Given the description of an element on the screen output the (x, y) to click on. 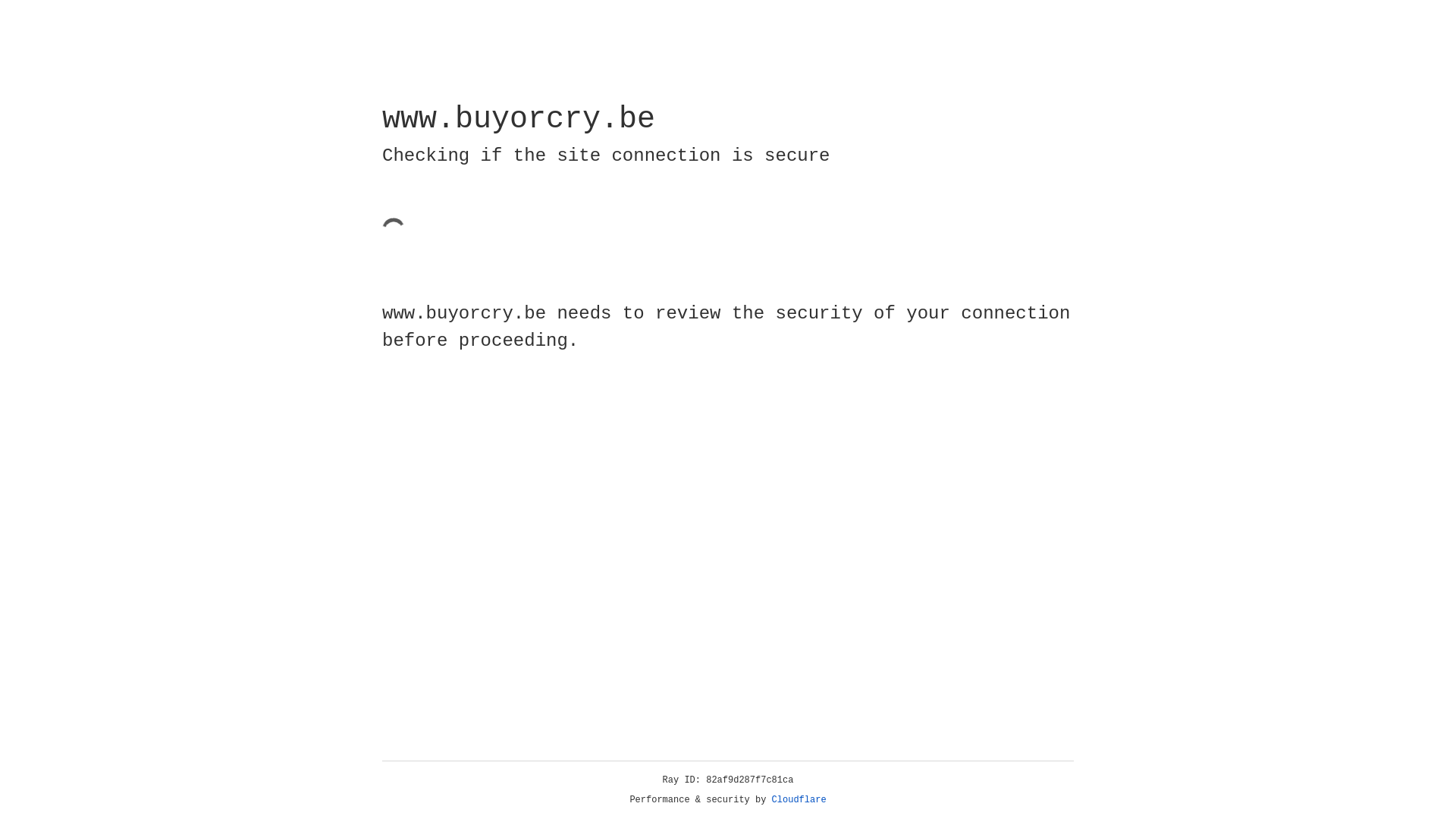
Cloudflare Element type: text (798, 799)
